Given the description of an element on the screen output the (x, y) to click on. 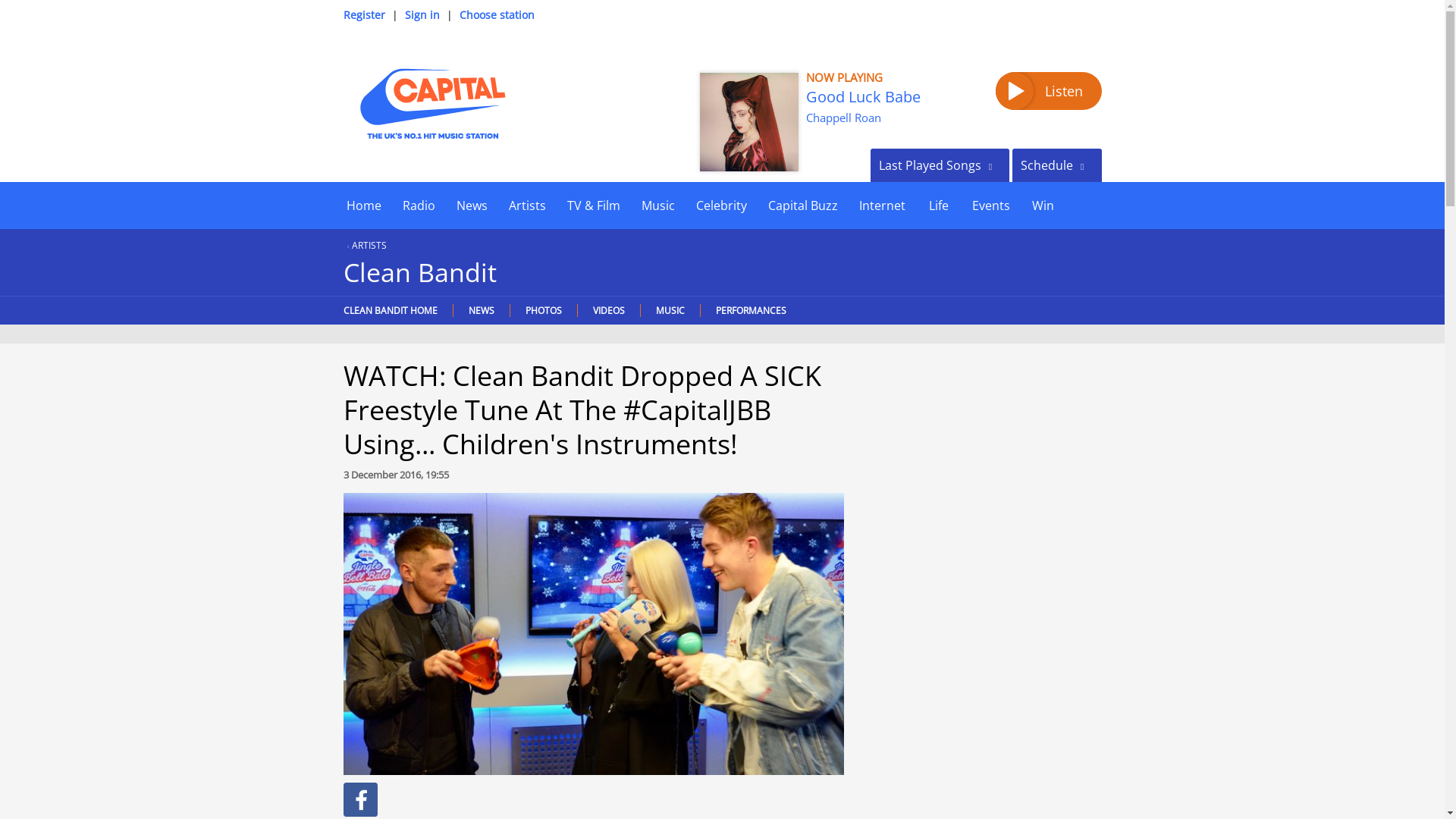
VIDEOS (607, 309)
Last Played Songs (939, 164)
MUSIC (670, 309)
Home (362, 205)
NEWS (479, 309)
Artists (526, 205)
Celebrity (721, 205)
Capital Buzz (802, 205)
PHOTOS (542, 309)
Listen (1047, 90)
